Given the description of an element on the screen output the (x, y) to click on. 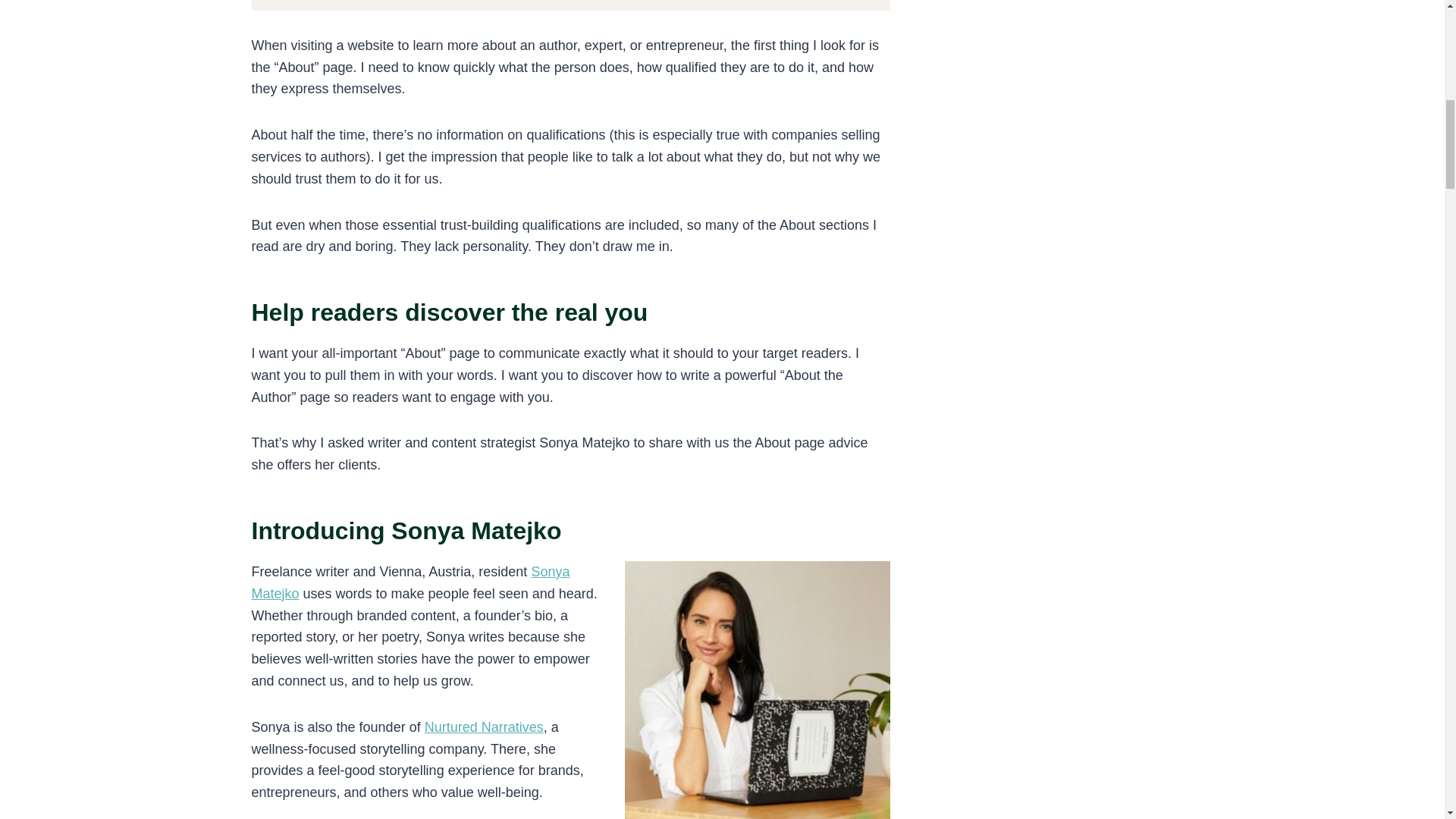
Sonya Matejko (410, 582)
Nurtured Narratives (484, 726)
